Given the description of an element on the screen output the (x, y) to click on. 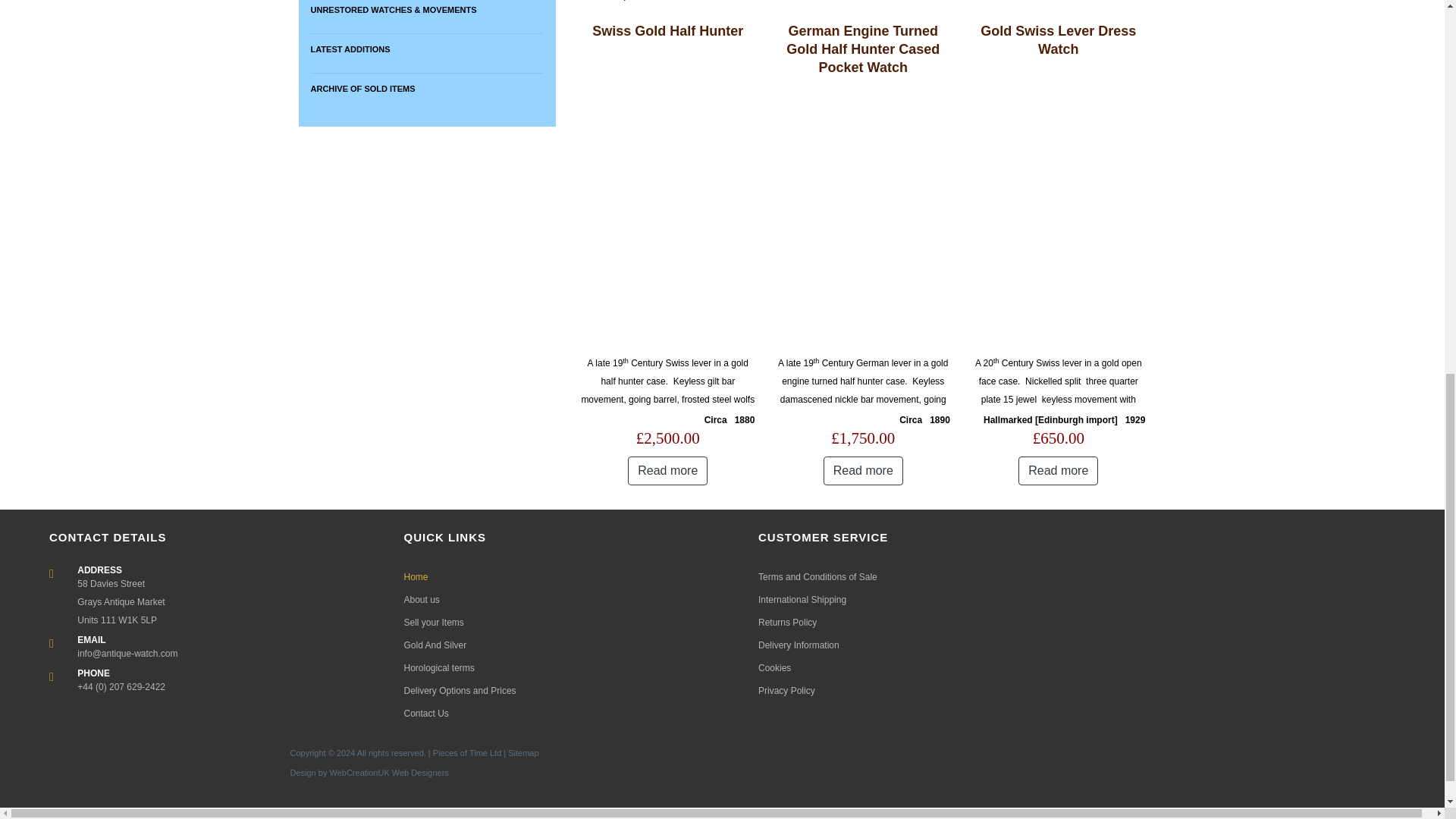
Read more (863, 470)
Read more (1057, 470)
Read more (667, 470)
